Given the description of an element on the screen output the (x, y) to click on. 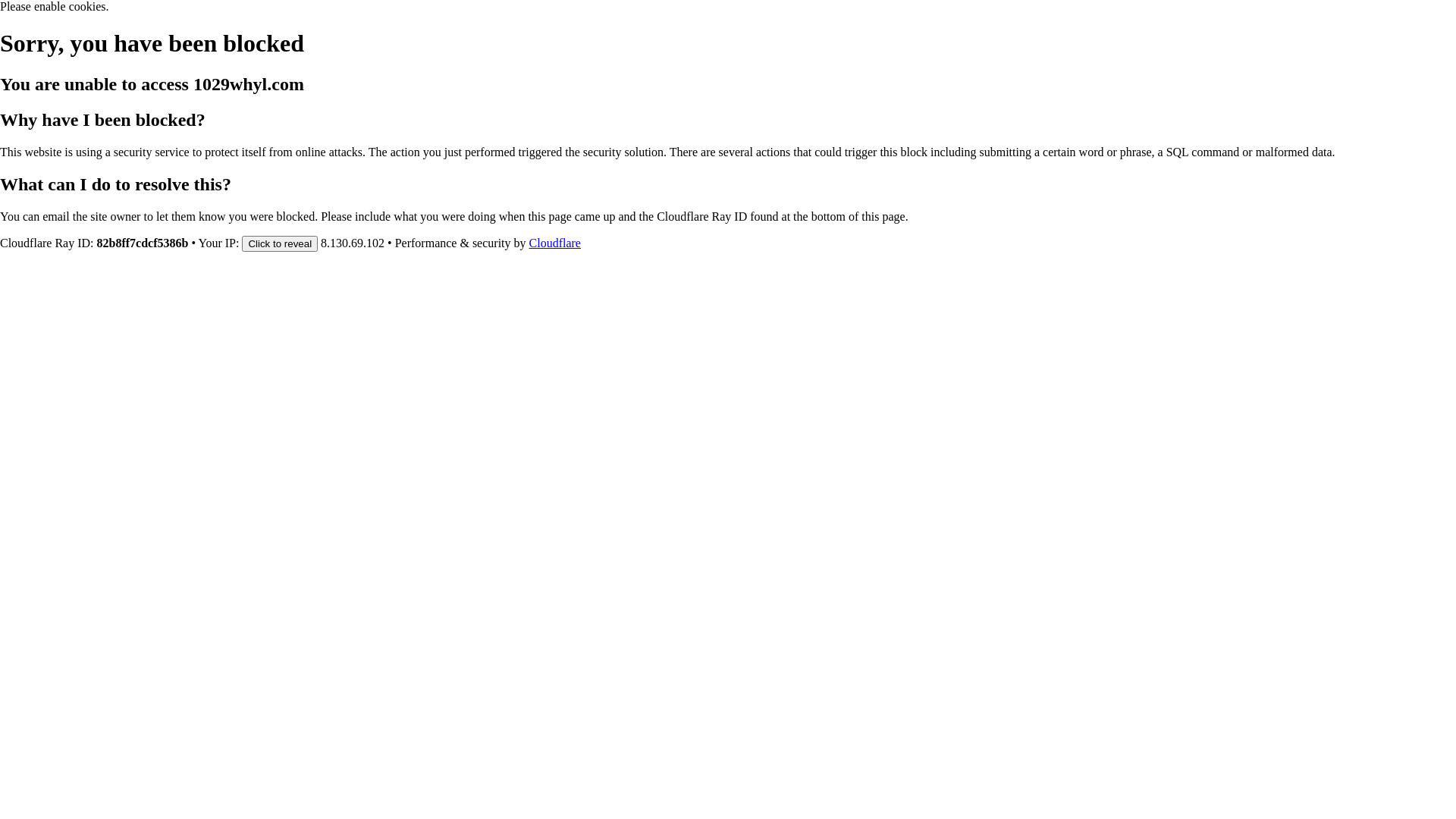
Cloudflare Element type: text (554, 242)
Click to reveal Element type: text (279, 243)
